Given the description of an element on the screen output the (x, y) to click on. 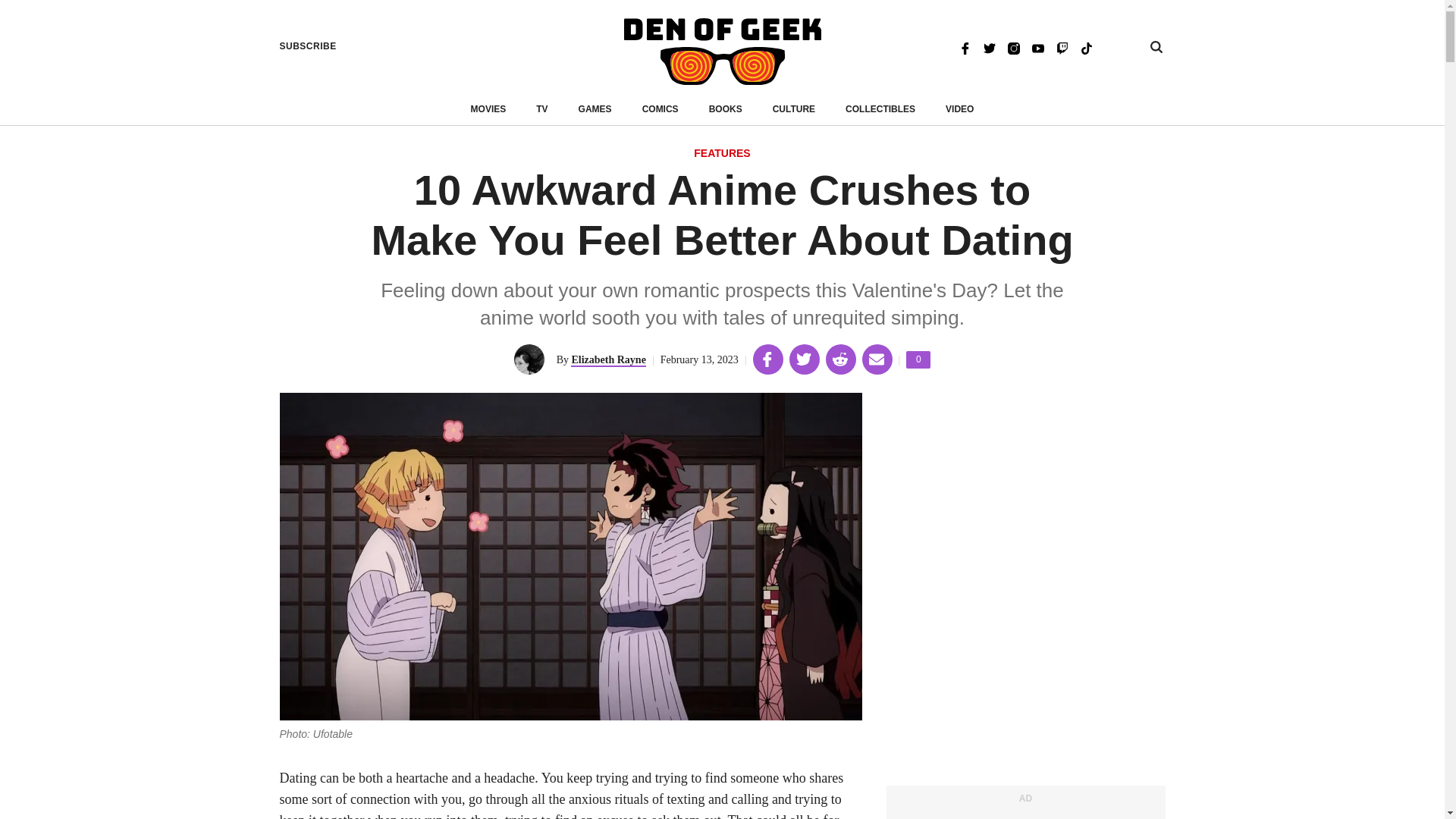
Instagram (1013, 46)
CULTURE (794, 109)
COLLECTIBLES (917, 359)
FEATURES (880, 109)
Twitch (721, 153)
VIDEO (1061, 46)
SUBSCRIBE (959, 109)
GAMES (307, 46)
Elizabeth Rayne (594, 109)
Twitter (607, 359)
BOOKS (988, 46)
Den of Geek (725, 109)
MOVIES (722, 52)
COMICS (488, 109)
